Given the description of an element on the screen output the (x, y) to click on. 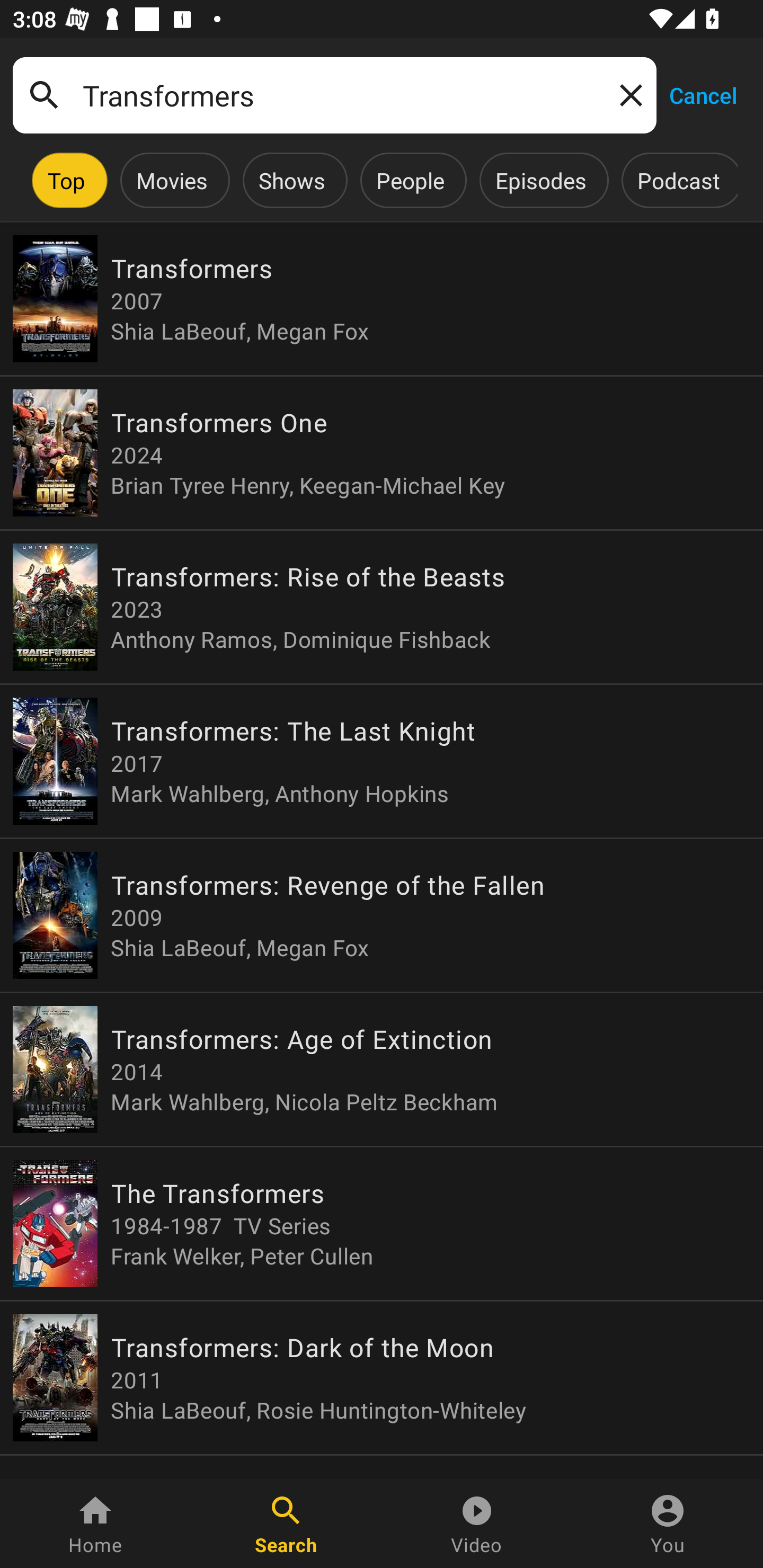
Clear query (627, 94)
Cancel (703, 94)
Transformers (334, 95)
Top (66, 180)
Movies (171, 180)
Shows (291, 180)
People (410, 180)
Episodes (540, 180)
Podcast (678, 180)
Transformers 2007 Shia LaBeouf, Megan Fox (381, 298)
Home (95, 1523)
Video (476, 1523)
You (667, 1523)
